Given the description of an element on the screen output the (x, y) to click on. 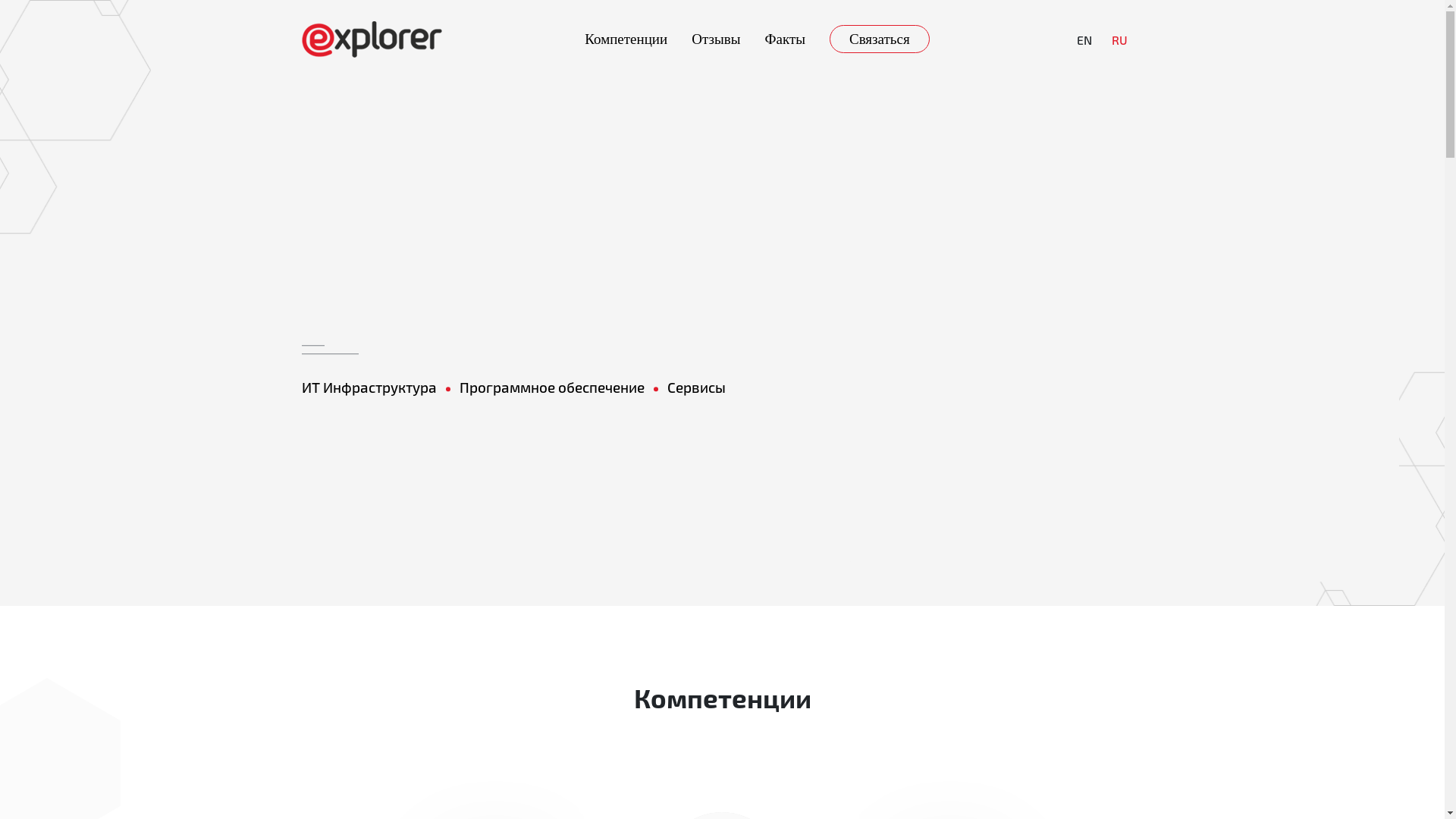
EN Element type: text (1083, 38)
RU Element type: text (1118, 38)
